Given the description of an element on the screen output the (x, y) to click on. 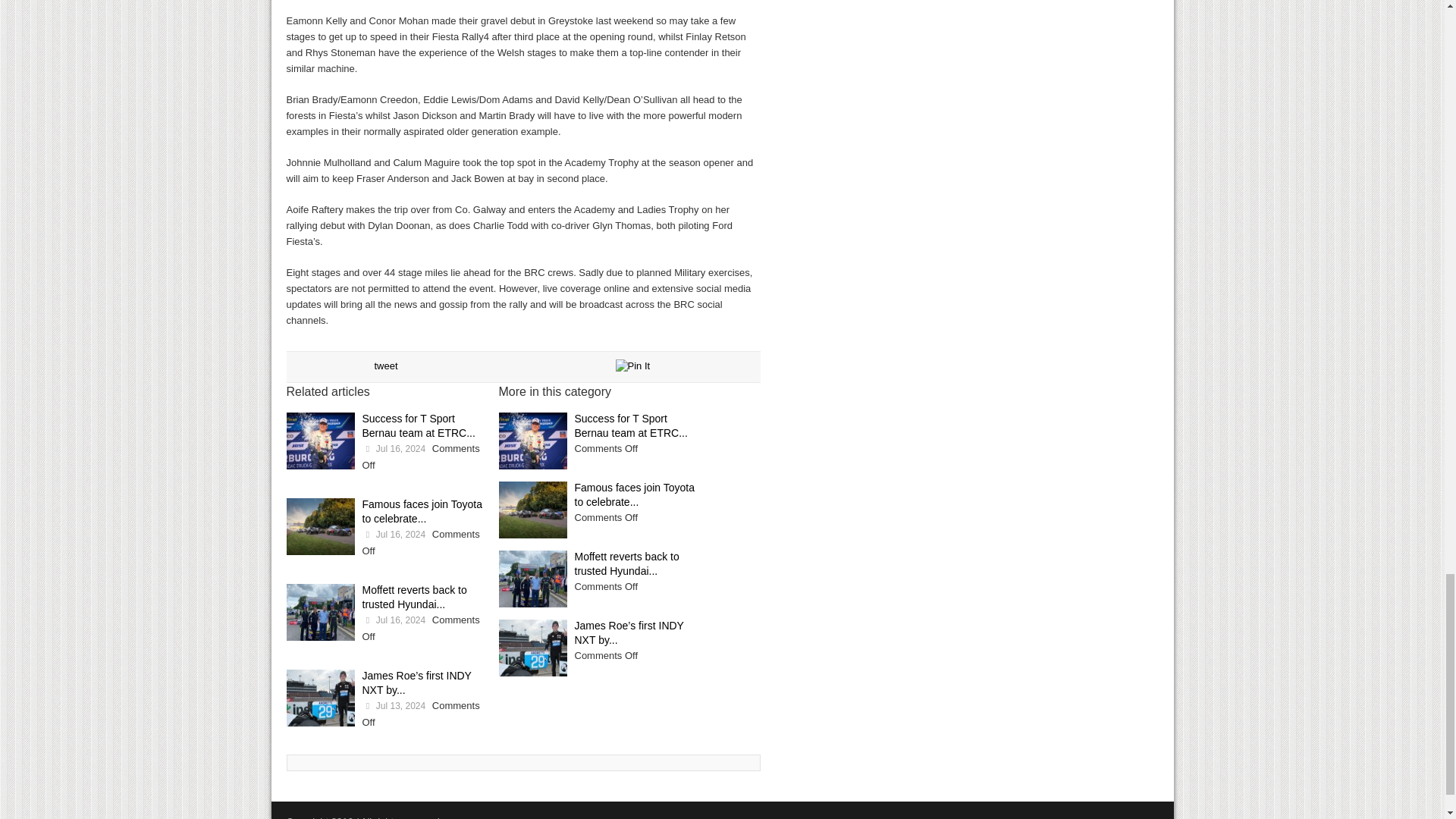
Pin It (632, 366)
tweet (385, 365)
